Given the description of an element on the screen output the (x, y) to click on. 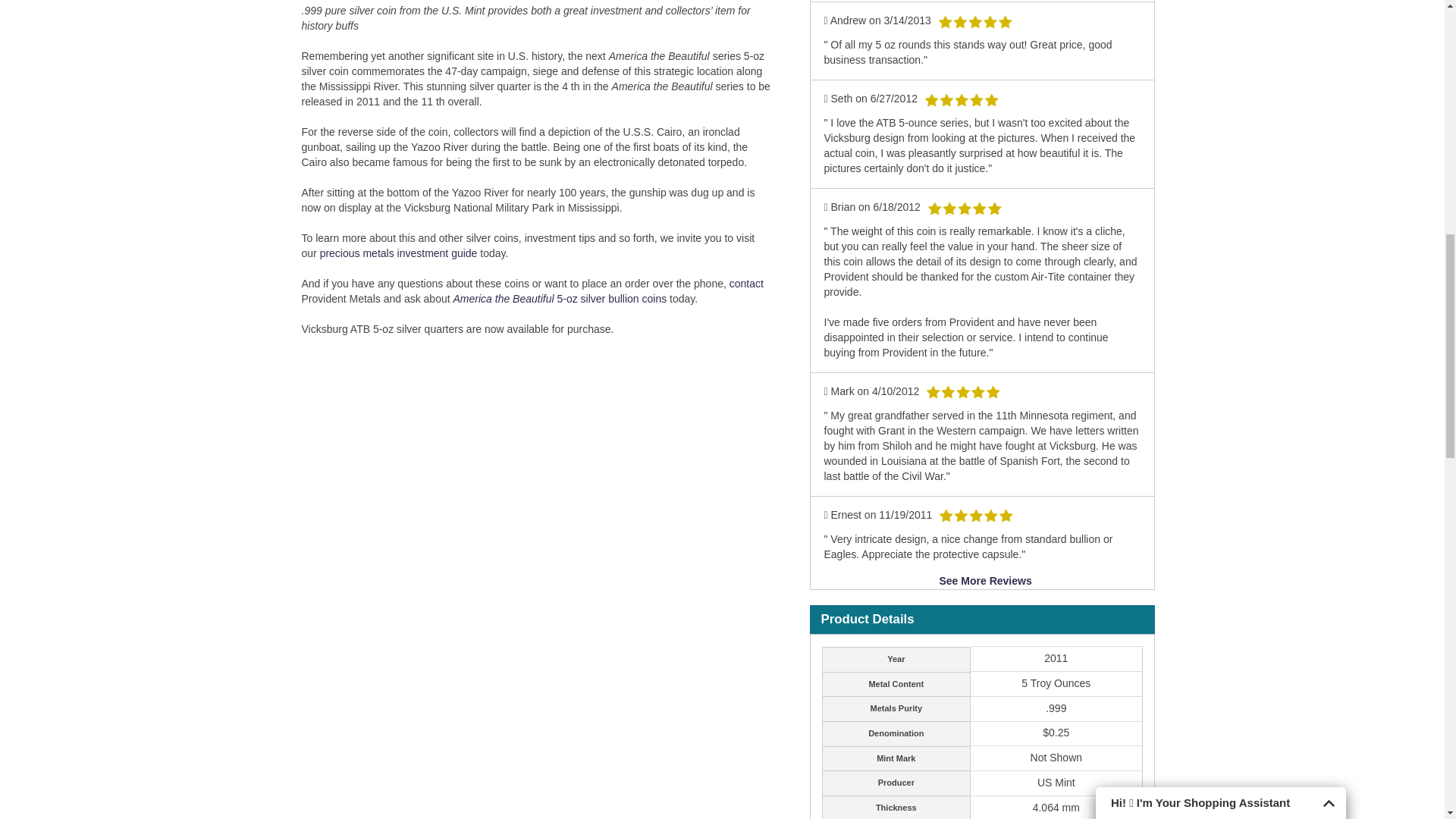
precious metals investment (398, 253)
America the Beautiful silver bullion (560, 298)
